Given the description of an element on the screen output the (x, y) to click on. 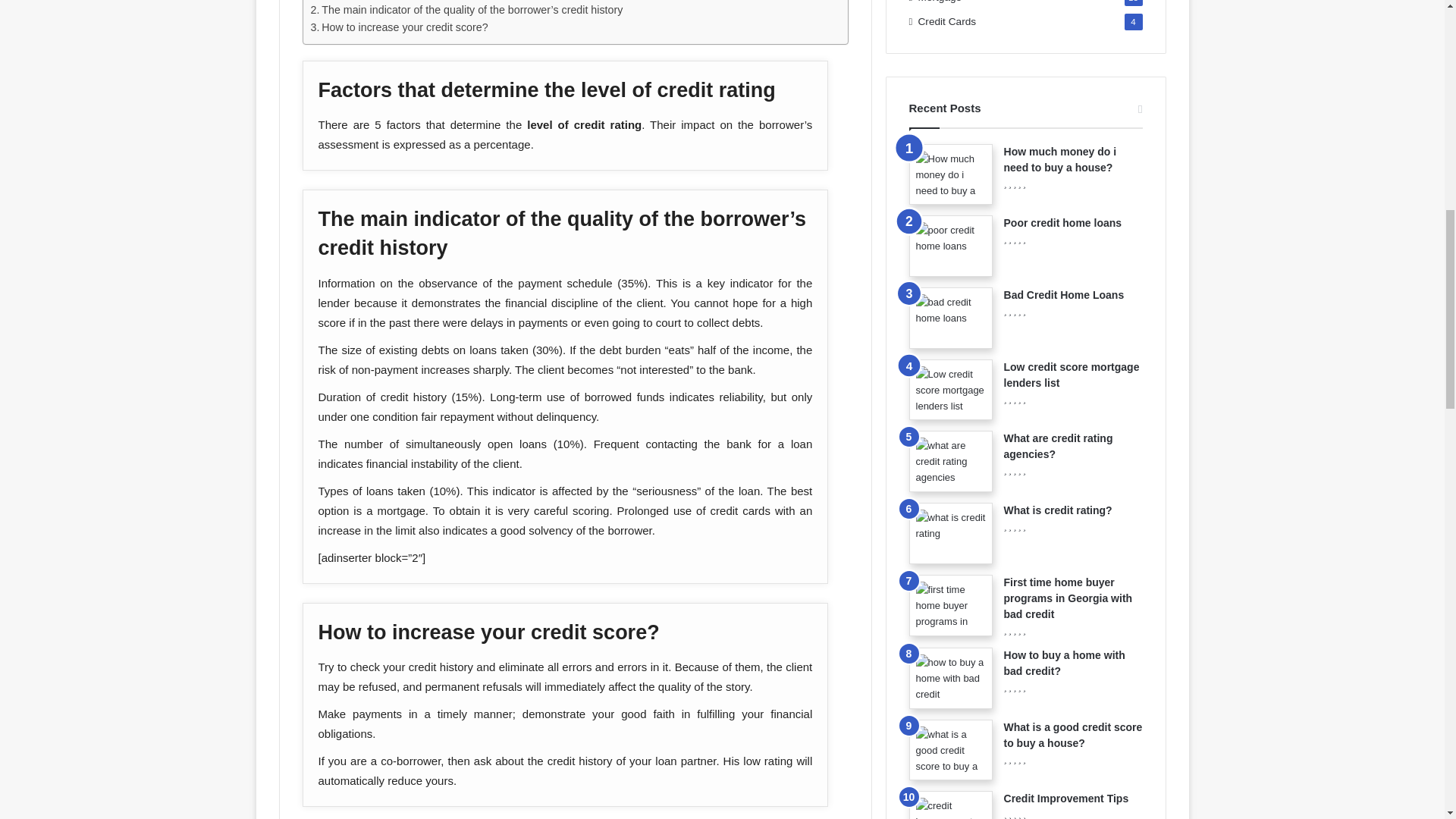
How to increase your credit score? (399, 27)
How to increase your credit score? (399, 27)
